Given the description of an element on the screen output the (x, y) to click on. 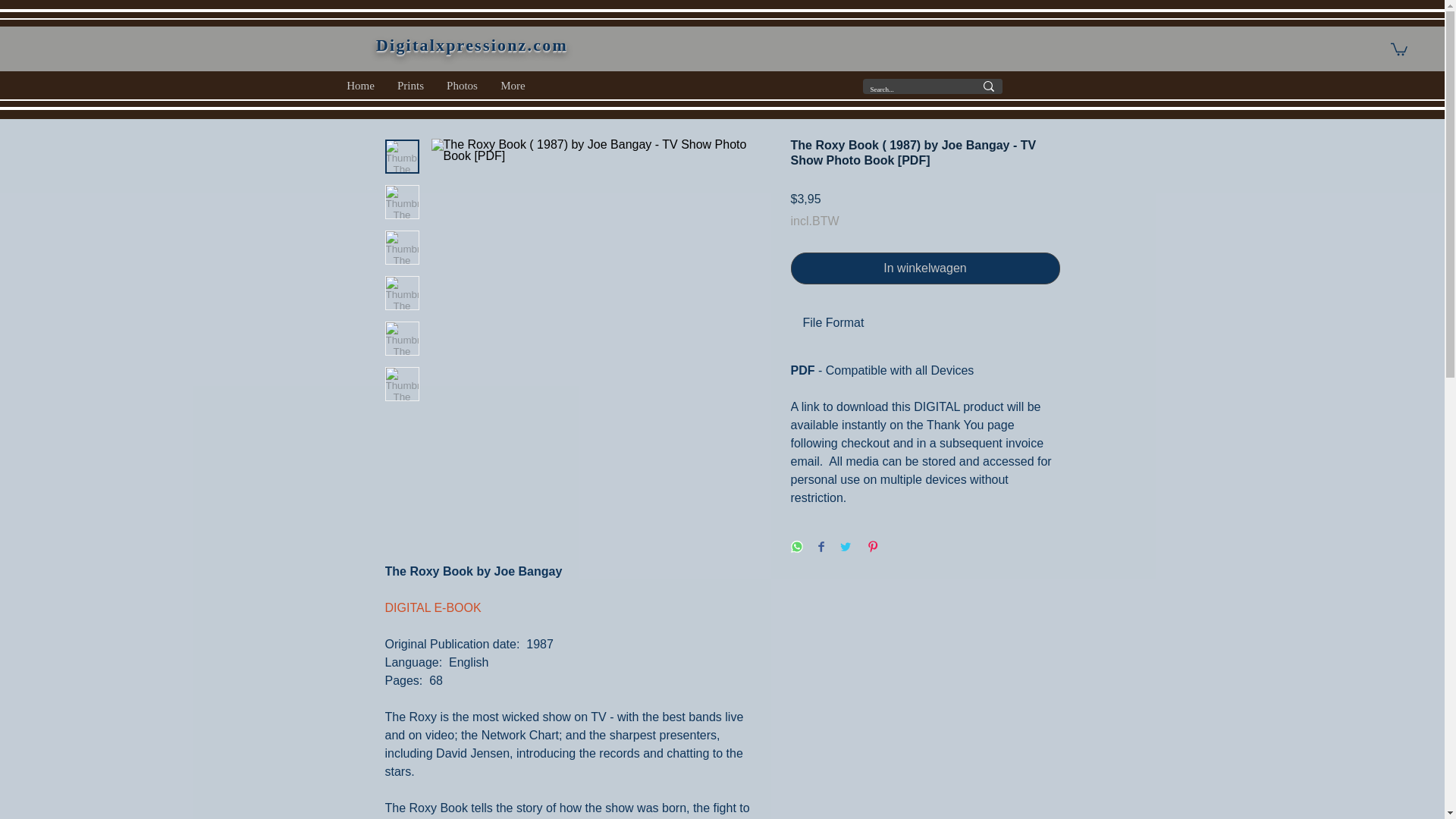
In winkelwagen (924, 268)
Photos (462, 85)
Home (359, 85)
Prints (410, 85)
